Given the description of an element on the screen output the (x, y) to click on. 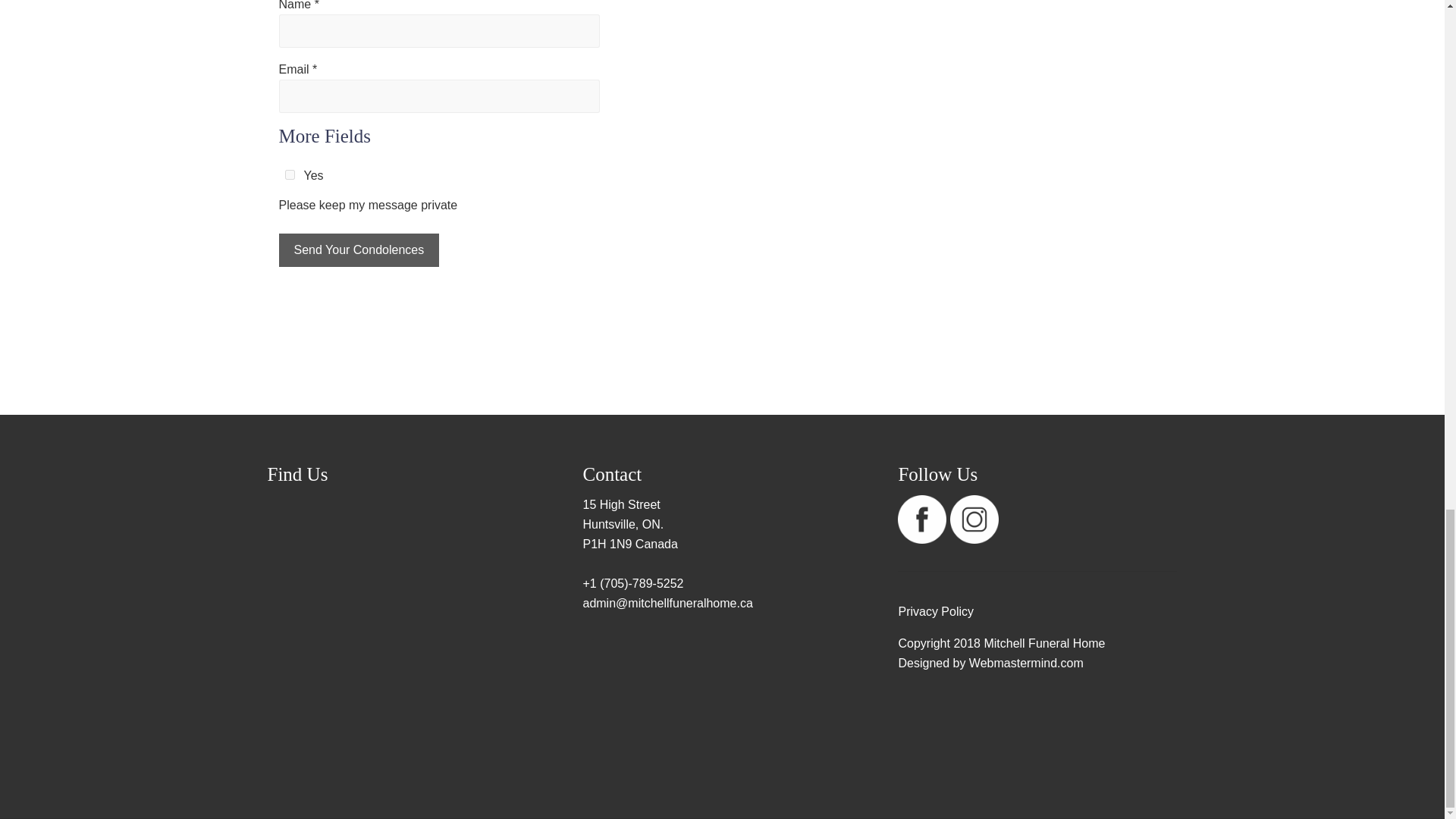
Send Your Condolences (359, 249)
Send Your Condolences (359, 249)
1 (290, 174)
